Given the description of an element on the screen output the (x, y) to click on. 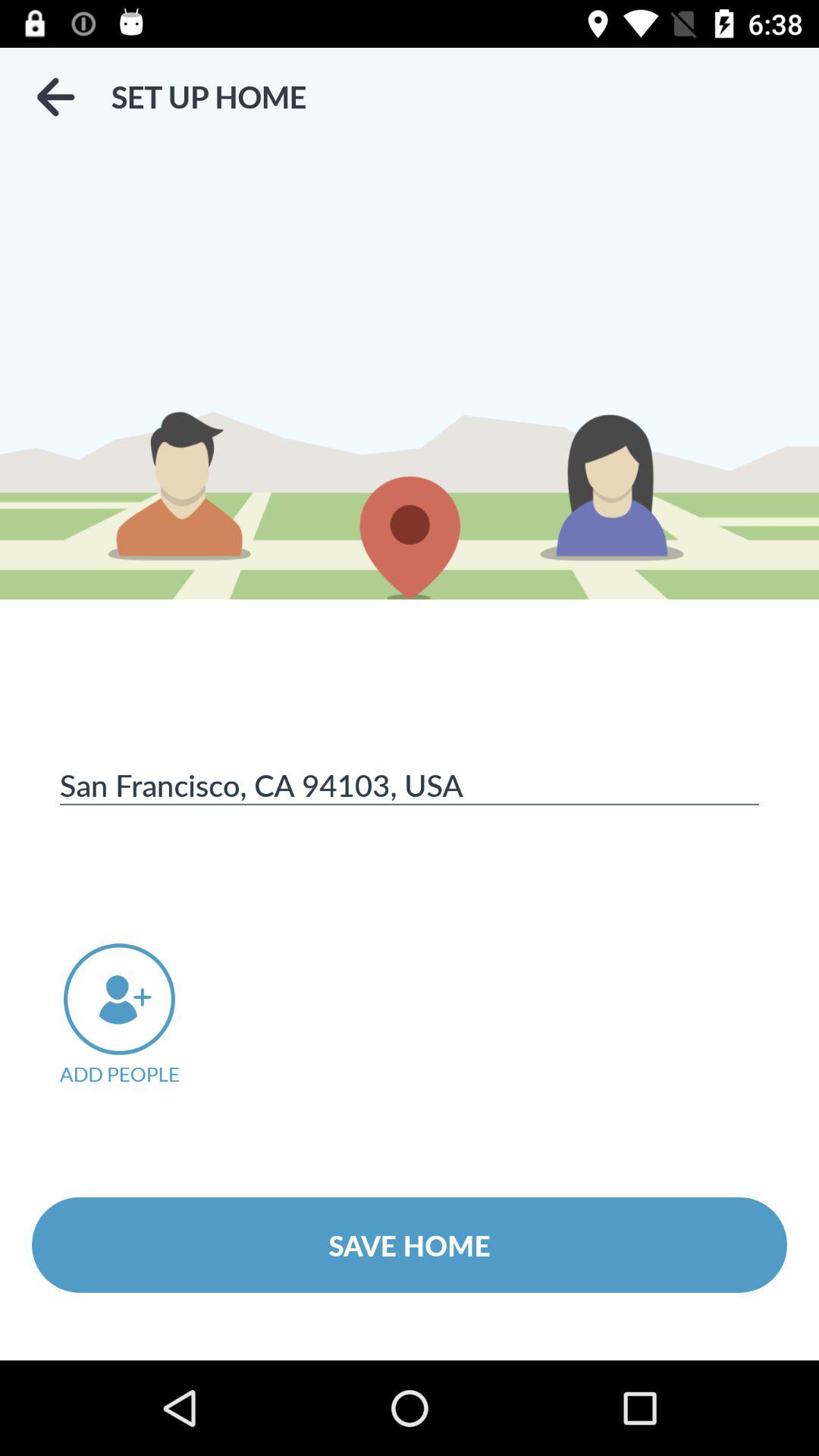
tap the icon next to the set up home icon (55, 97)
